Given the description of an element on the screen output the (x, y) to click on. 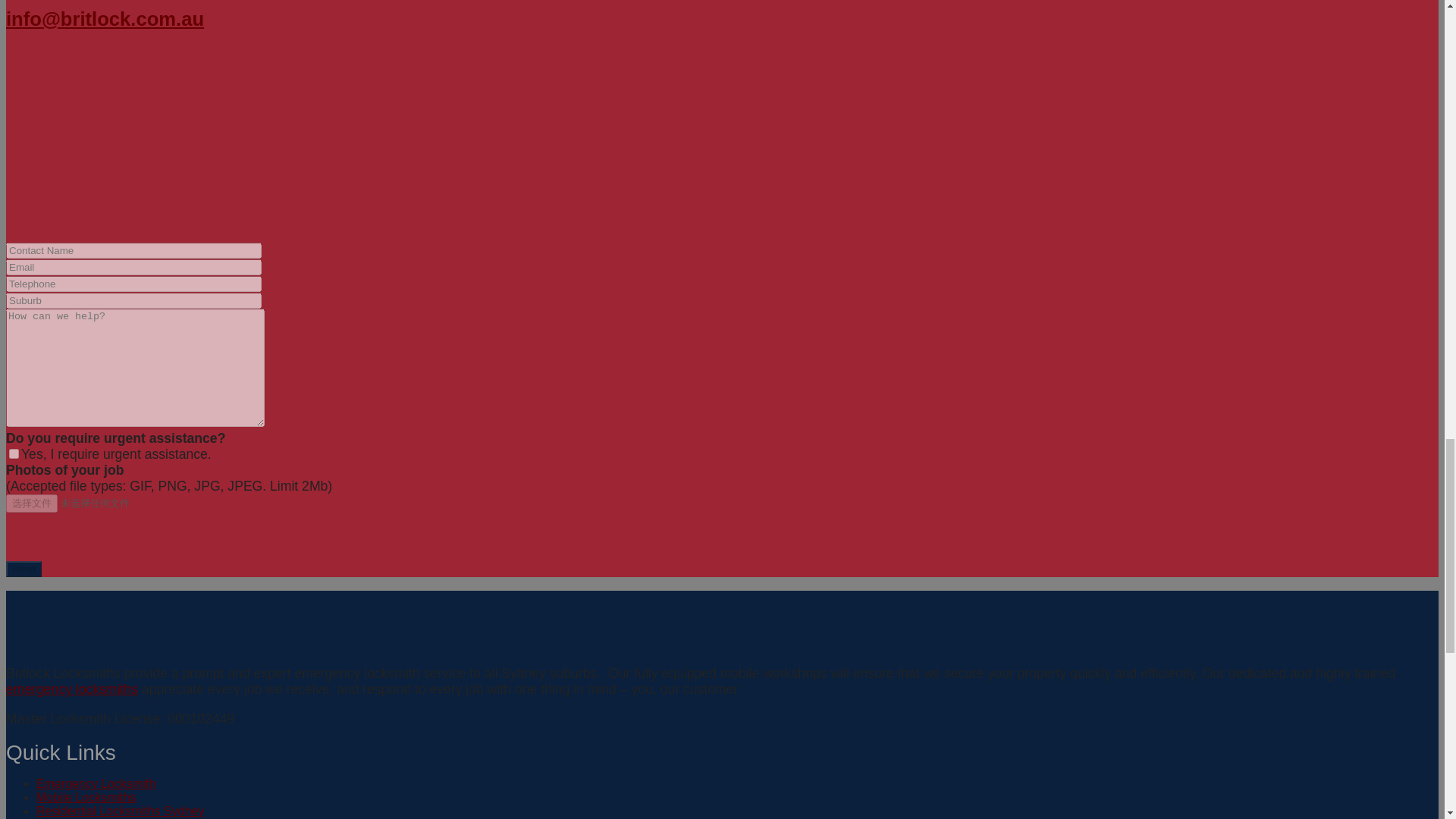
Send (23, 569)
Residential Locksmiths Sydney (119, 810)
Yes, I require urgent assistance. (13, 453)
Send (23, 569)
Emergency Locksmith (95, 783)
Mobile Locksmiths (86, 797)
emergency locksmiths (71, 688)
